Given the description of an element on the screen output the (x, y) to click on. 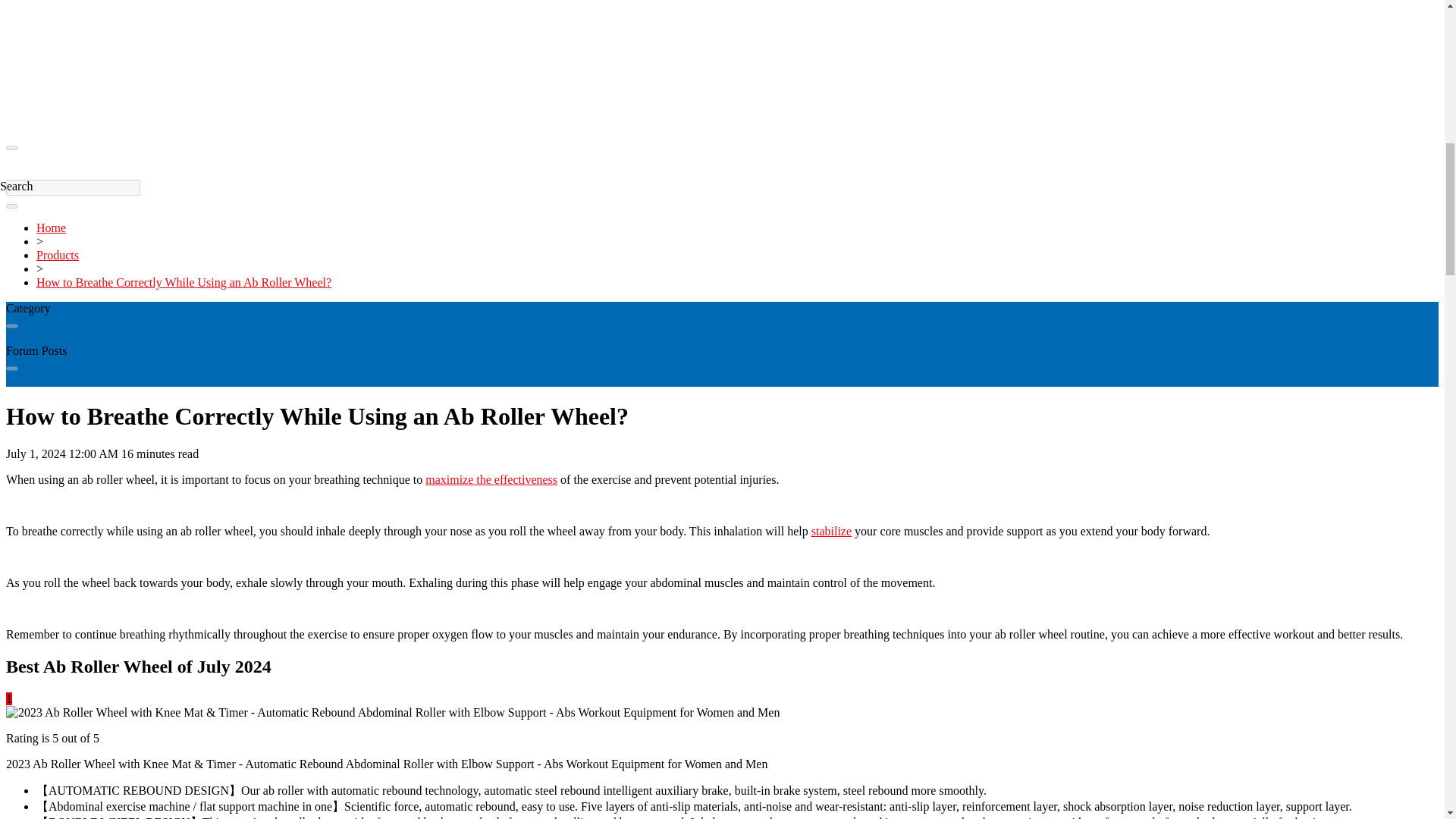
maximize the effectiveness (491, 479)
Home (50, 227)
stabilize (830, 530)
Products (57, 254)
How to Breathe Correctly While Using an Ab Roller Wheel? (183, 282)
